Given the description of an element on the screen output the (x, y) to click on. 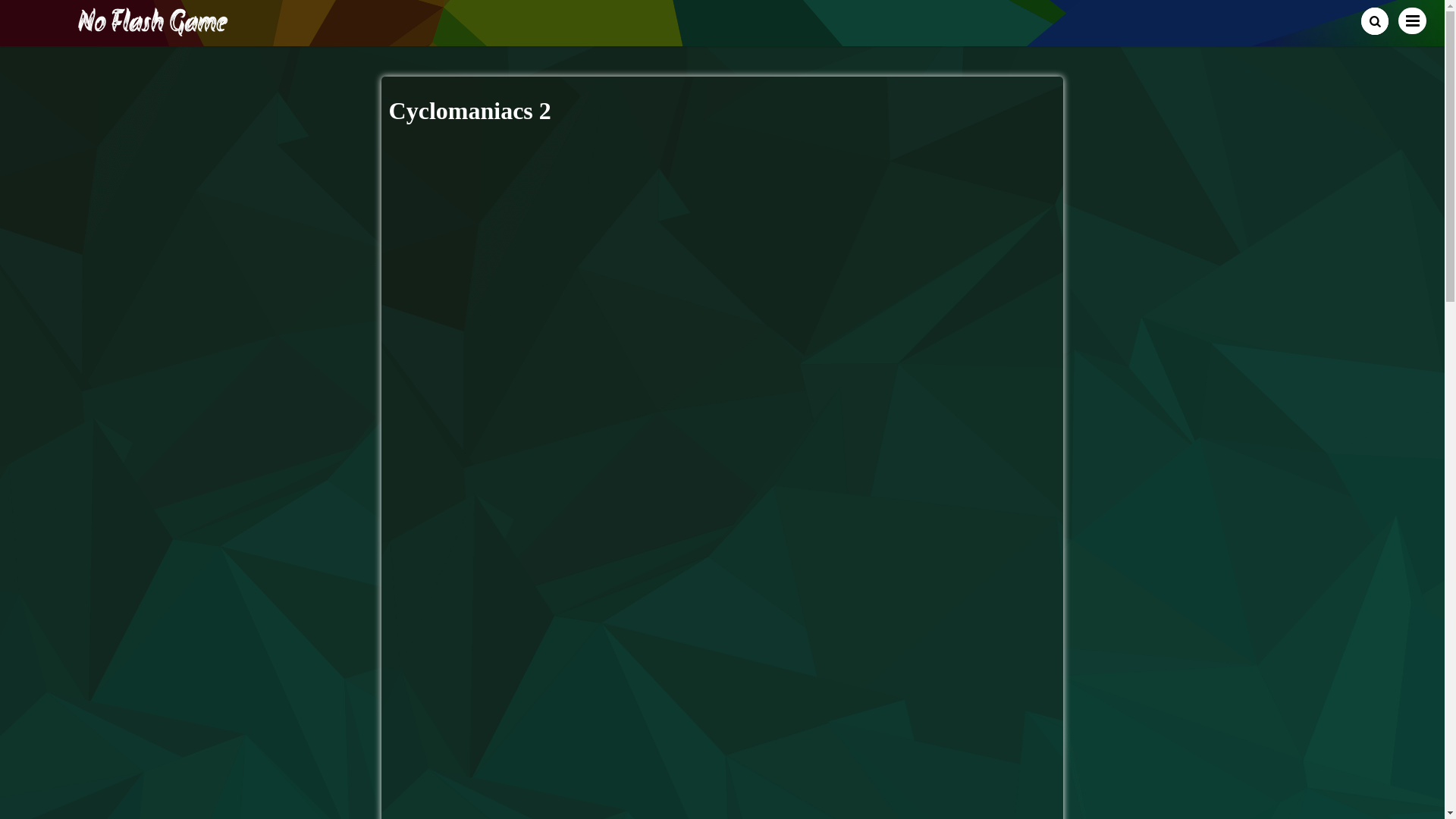
Advertisement (722, 785)
Advertisement (722, 248)
Search (1375, 21)
No Flash Game (153, 29)
